Given the description of an element on the screen output the (x, y) to click on. 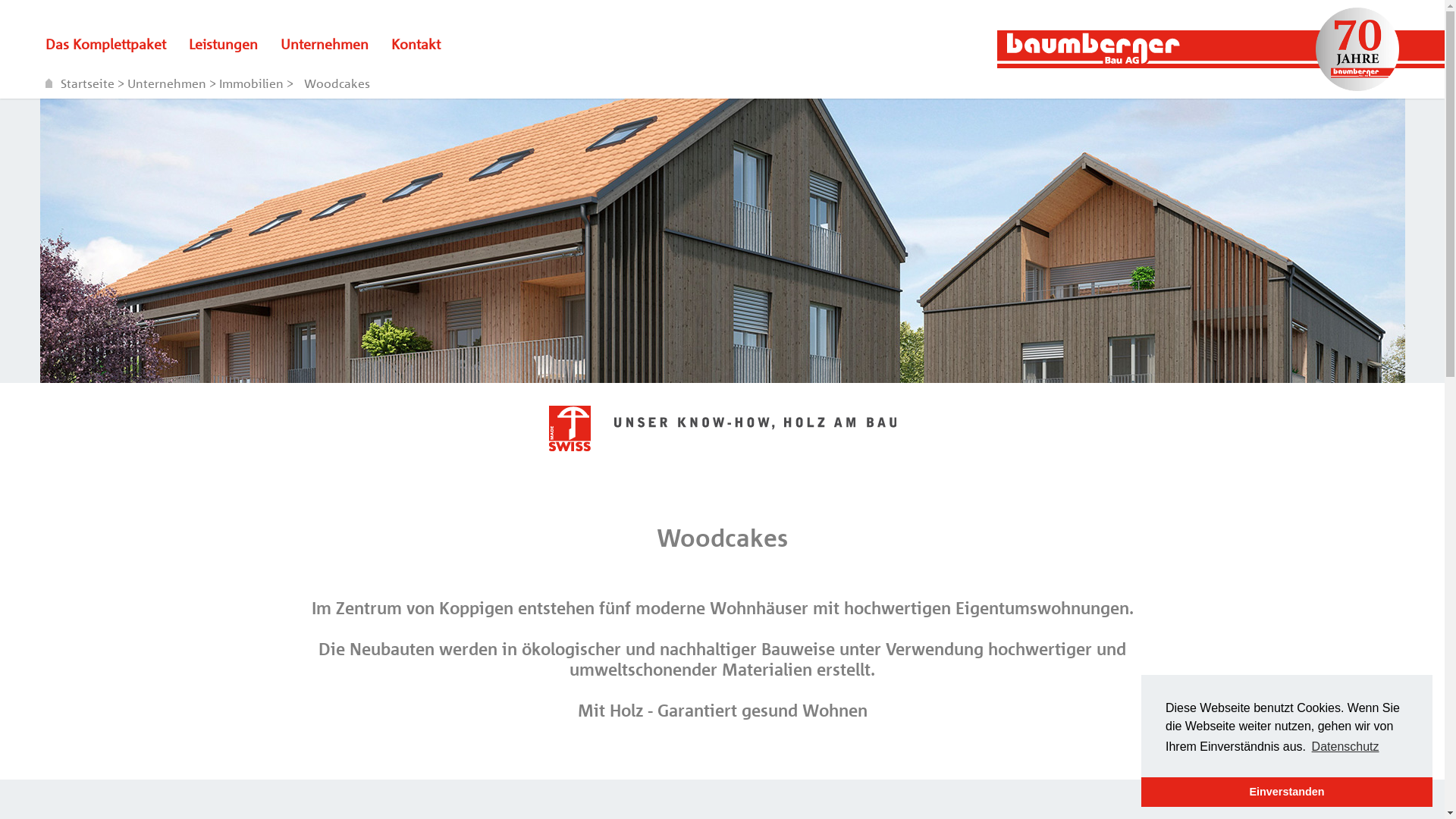
Startseite Element type: text (81, 83)
Leistungen Element type: text (222, 44)
Datenschutz Element type: text (1344, 746)
Kontakt Element type: text (415, 44)
Immobilien Element type: text (252, 83)
Unternehmen Element type: text (168, 83)
Unternehmen Element type: text (324, 44)
Einverstanden Element type: text (1286, 791)
Das Komplettpaket Element type: text (105, 44)
